Given the description of an element on the screen output the (x, y) to click on. 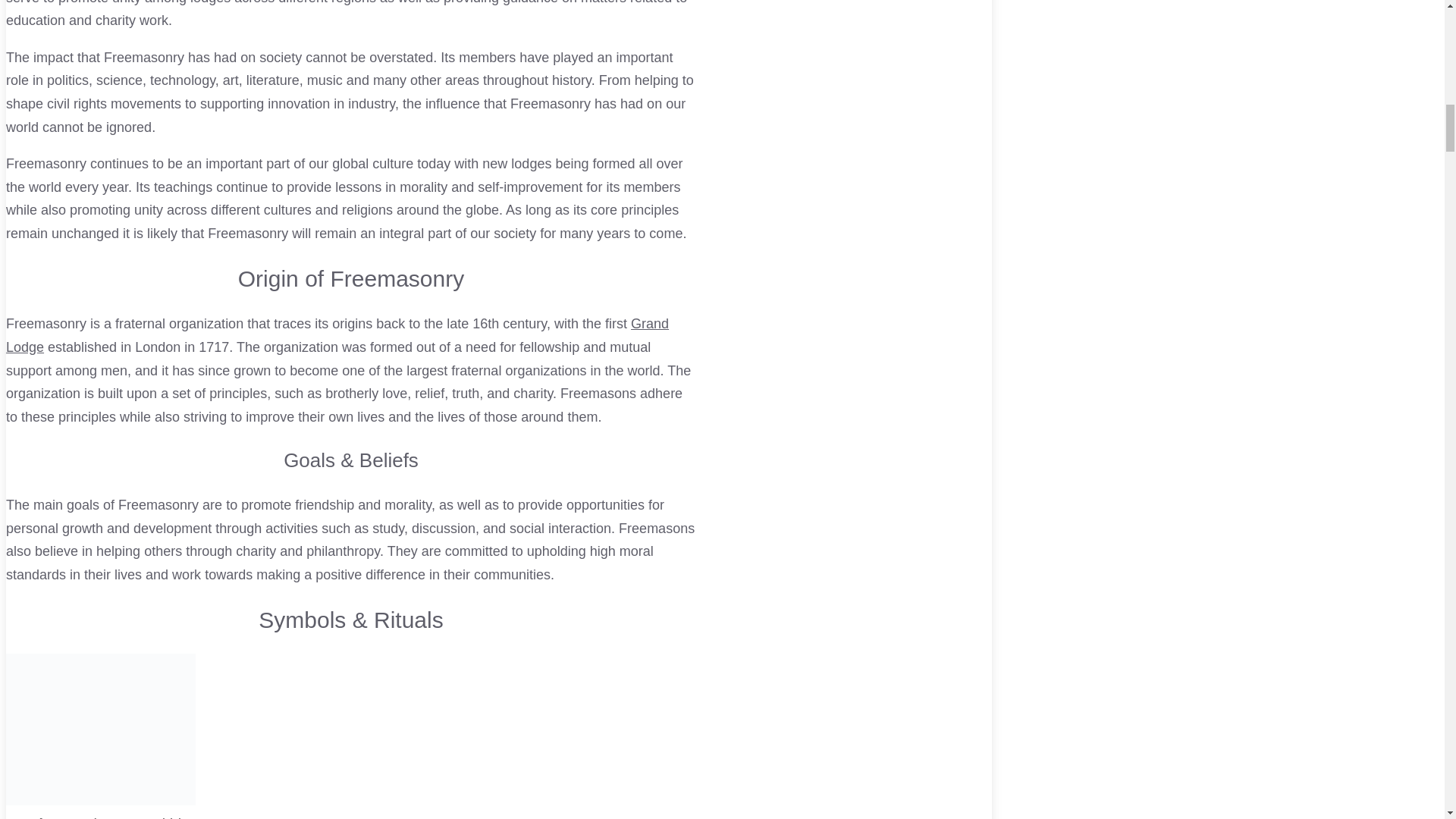
Grand Lodge (336, 335)
Read moreThe Vow Within Freemasonry (350, 806)
Provincial Grand Lodge Of Hampshire And The Isle Of Wight (336, 335)
